Given the description of an element on the screen output the (x, y) to click on. 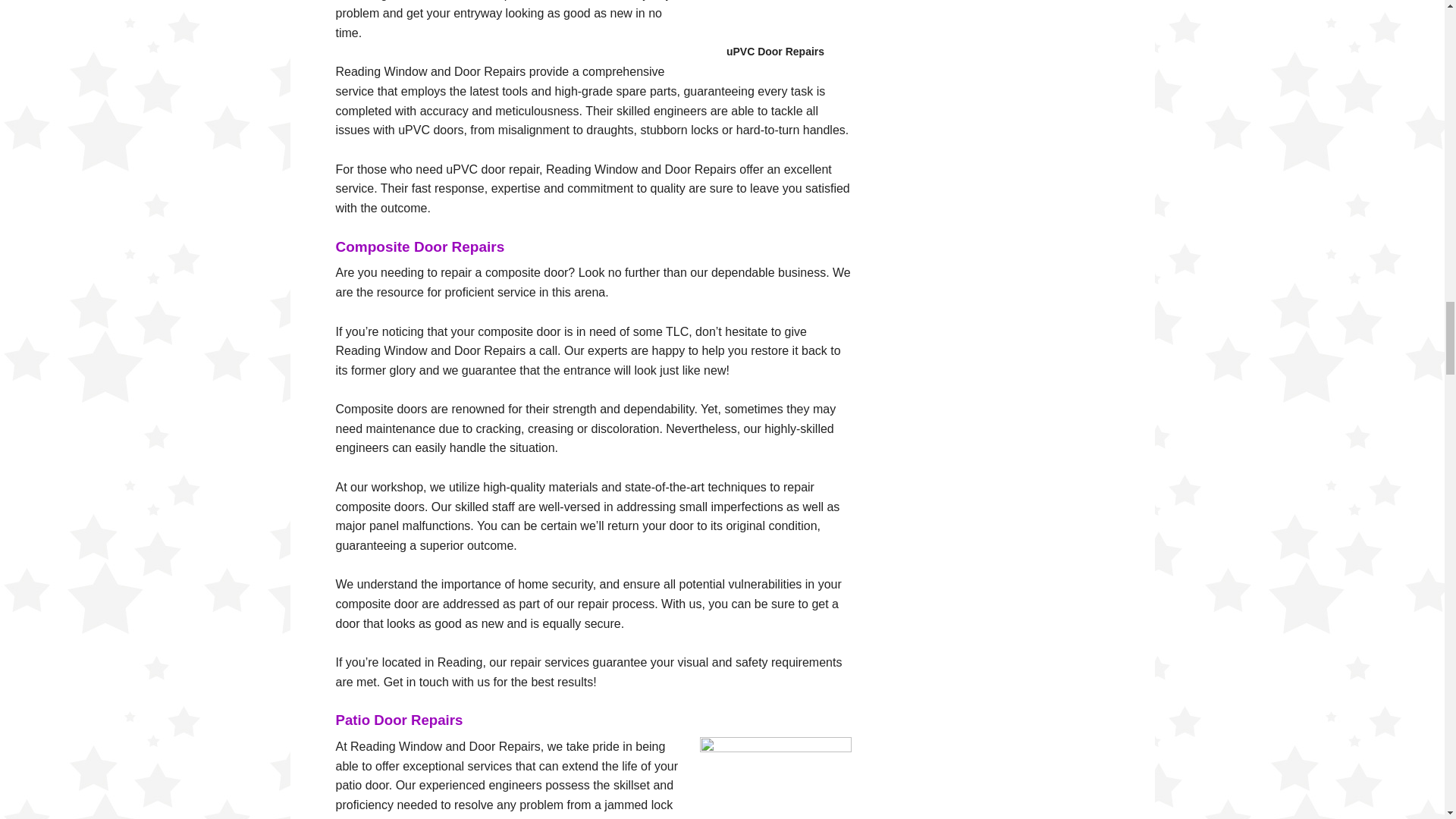
Patio Door Repairs near Reading (774, 778)
uPVC Door Repairs near Reading (774, 22)
